Given the description of an element on the screen output the (x, y) to click on. 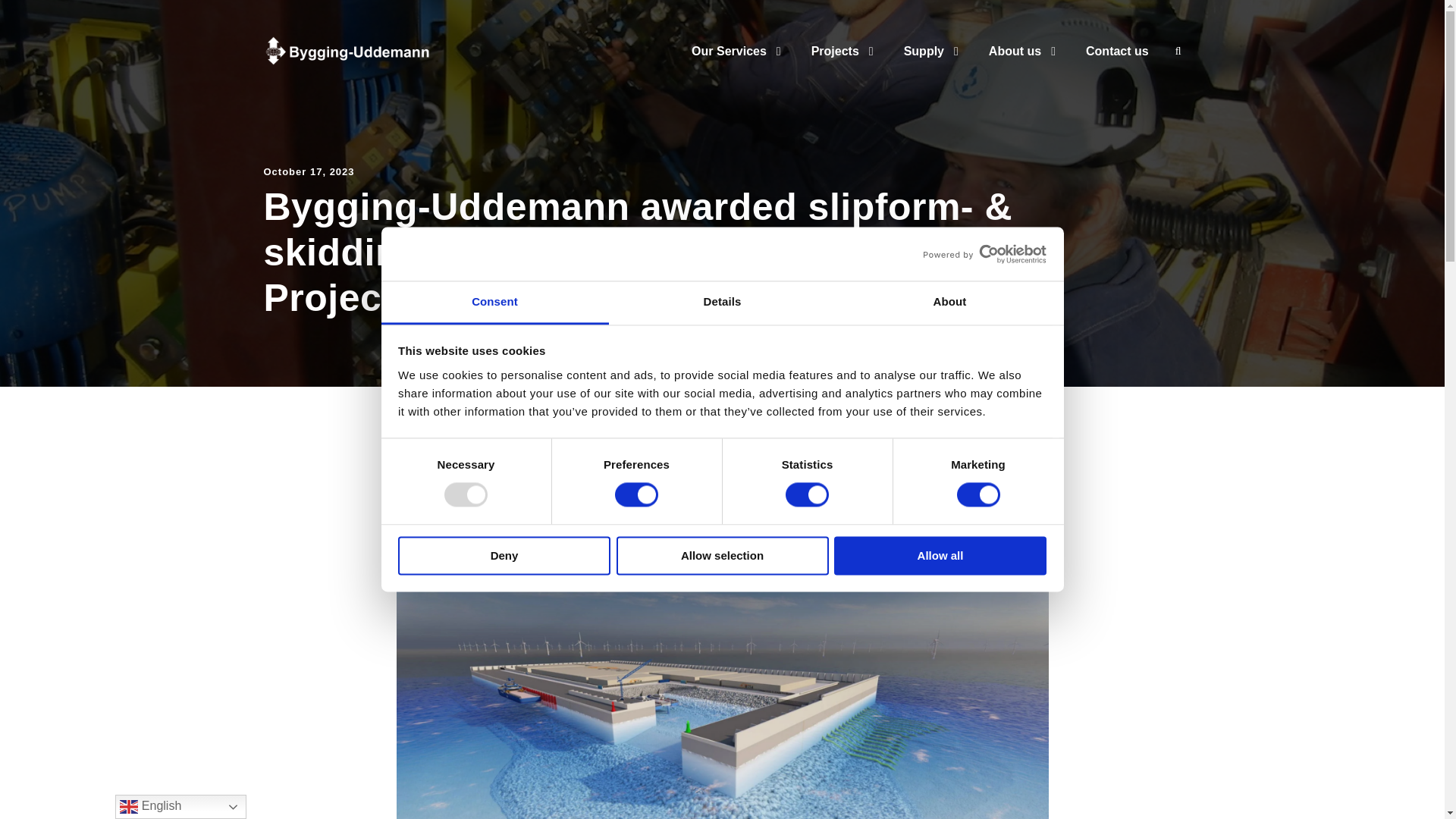
Allow all (940, 555)
Details (721, 302)
Logo vit (346, 50)
About (948, 302)
Deny (503, 555)
Consent (494, 302)
Allow selection (721, 555)
